Given the description of an element on the screen output the (x, y) to click on. 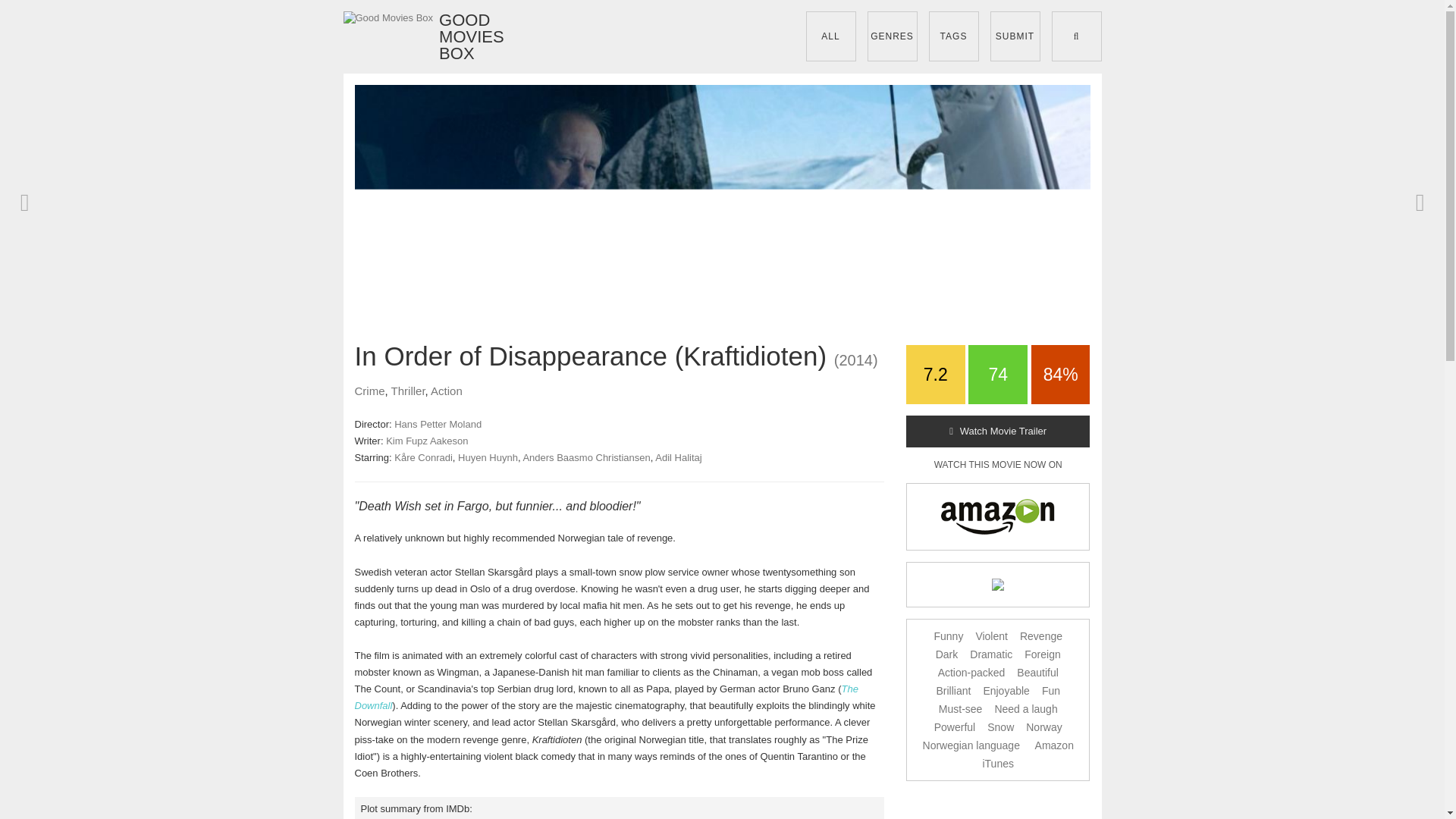
GENRES (892, 36)
Crime (370, 390)
Anders Baasmo Christiansen (585, 457)
Huyen Huynh (488, 457)
SUBMIT (1015, 36)
Foreign (1042, 654)
Action (446, 390)
Thriller (408, 390)
Revenge (1041, 635)
Watch Movie Trailer (997, 431)
Action-packed (971, 672)
ALL (830, 36)
Hans Petter Moland (437, 423)
Violent (991, 635)
GOOD MOVIES BOX (413, 36)
